Given the description of an element on the screen output the (x, y) to click on. 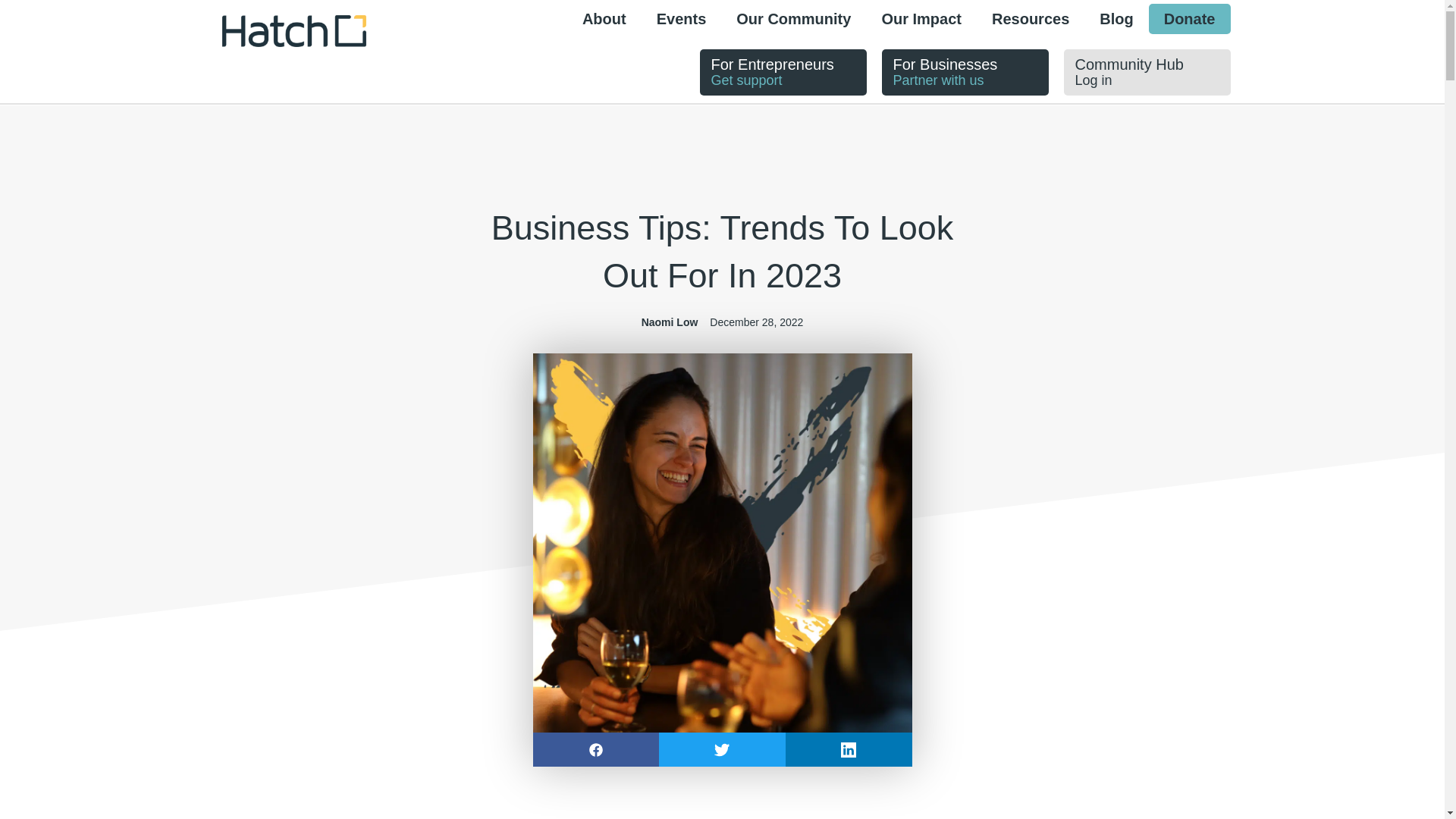
Resources (1030, 19)
Donate (1189, 19)
Blog (1116, 19)
Our Community (793, 19)
Events (1146, 72)
About (682, 19)
Our Impact (964, 72)
